Given the description of an element on the screen output the (x, y) to click on. 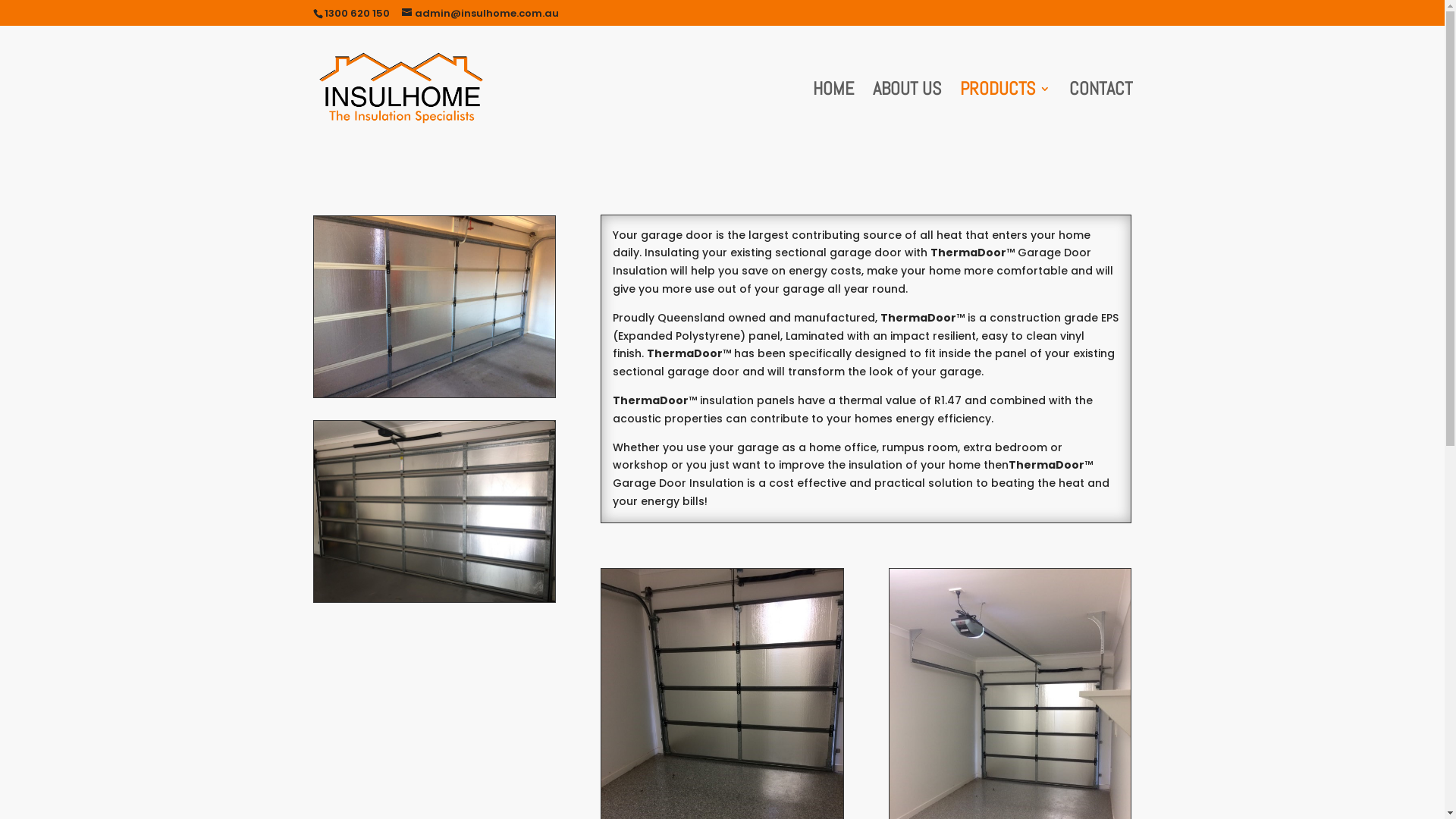
admin@insulhome.com.au Element type: text (479, 13)
Foil Garage door Element type: hover (434, 306)
PRODUCTS Element type: text (1005, 117)
What is EPS Expanded Polystyrene Element type: hover (746, 335)
CONTACT Element type: text (1100, 117)
ABOUT US Element type: text (906, 117)
HOME Element type: text (832, 117)
Garage door insulation Element type: hover (434, 511)
  Element type: text (746, 335)
1300 620 150 Element type: text (356, 13)
